Given the description of an element on the screen output the (x, y) to click on. 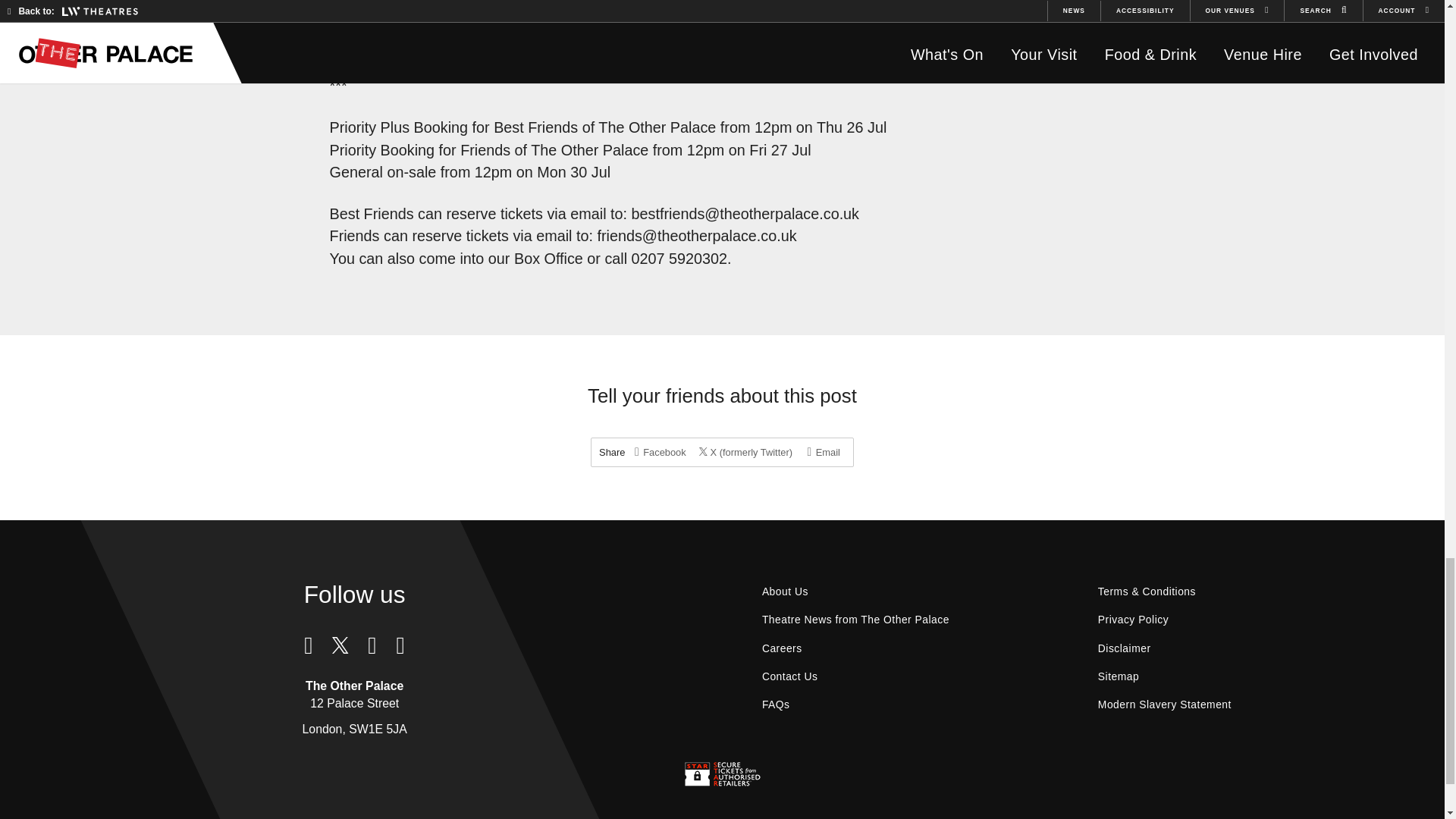
Theatre News from The Other Palace (855, 619)
Disclaimer (1123, 648)
FAQs (776, 705)
Modern Slavery Statement (1164, 705)
Facebook (659, 451)
Privacy Policy (1132, 619)
Sitemap (1118, 676)
Careers (782, 648)
Email (822, 451)
About Us (785, 592)
